Given the description of an element on the screen output the (x, y) to click on. 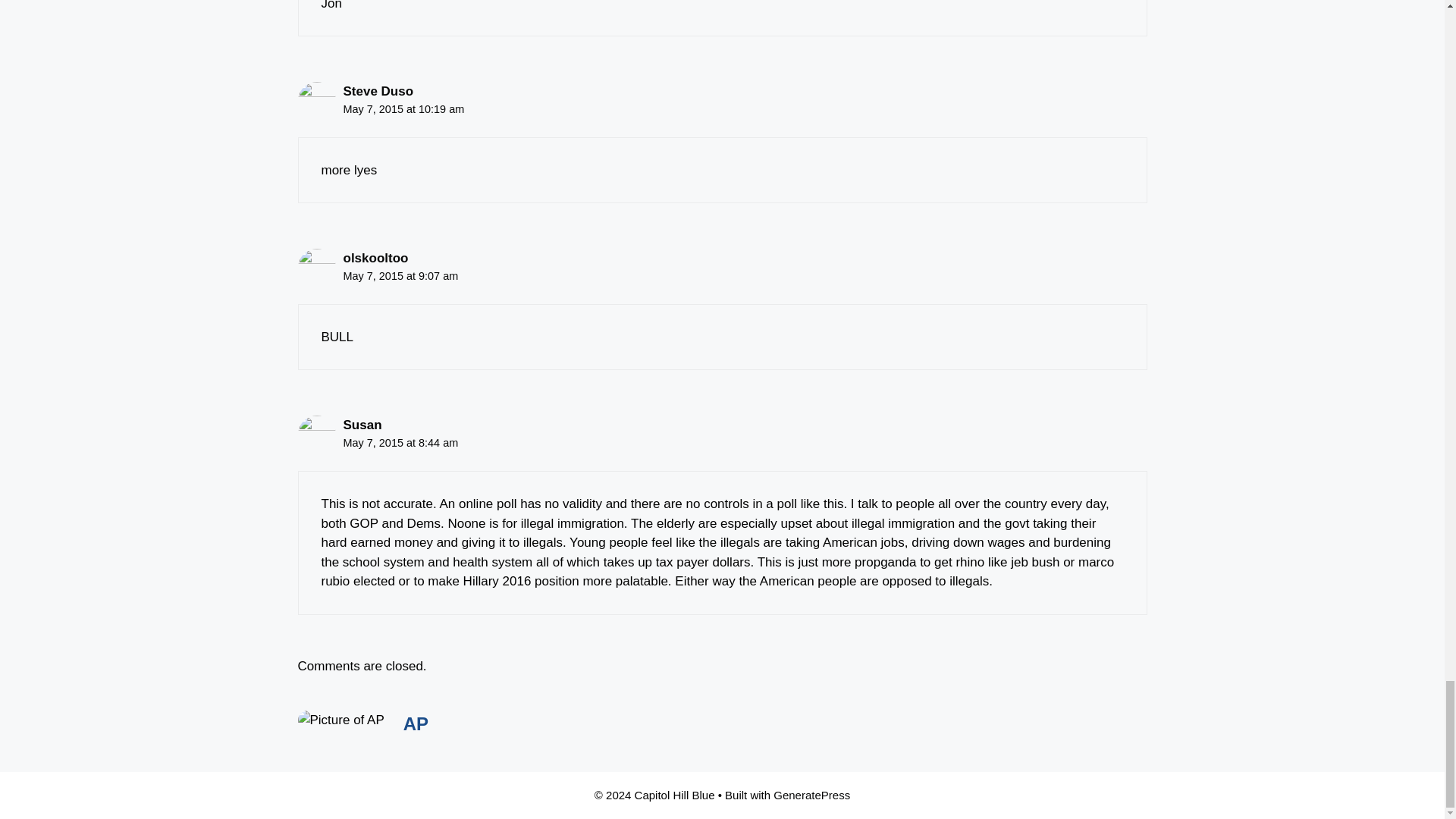
May 7, 2015 at 8:44 am (400, 442)
olskooltoo (374, 257)
Steve Duso (377, 91)
May 7, 2015 at 9:07 am (400, 275)
May 7, 2015 at 10:19 am (403, 109)
GeneratePress (811, 794)
